Given the description of an element on the screen output the (x, y) to click on. 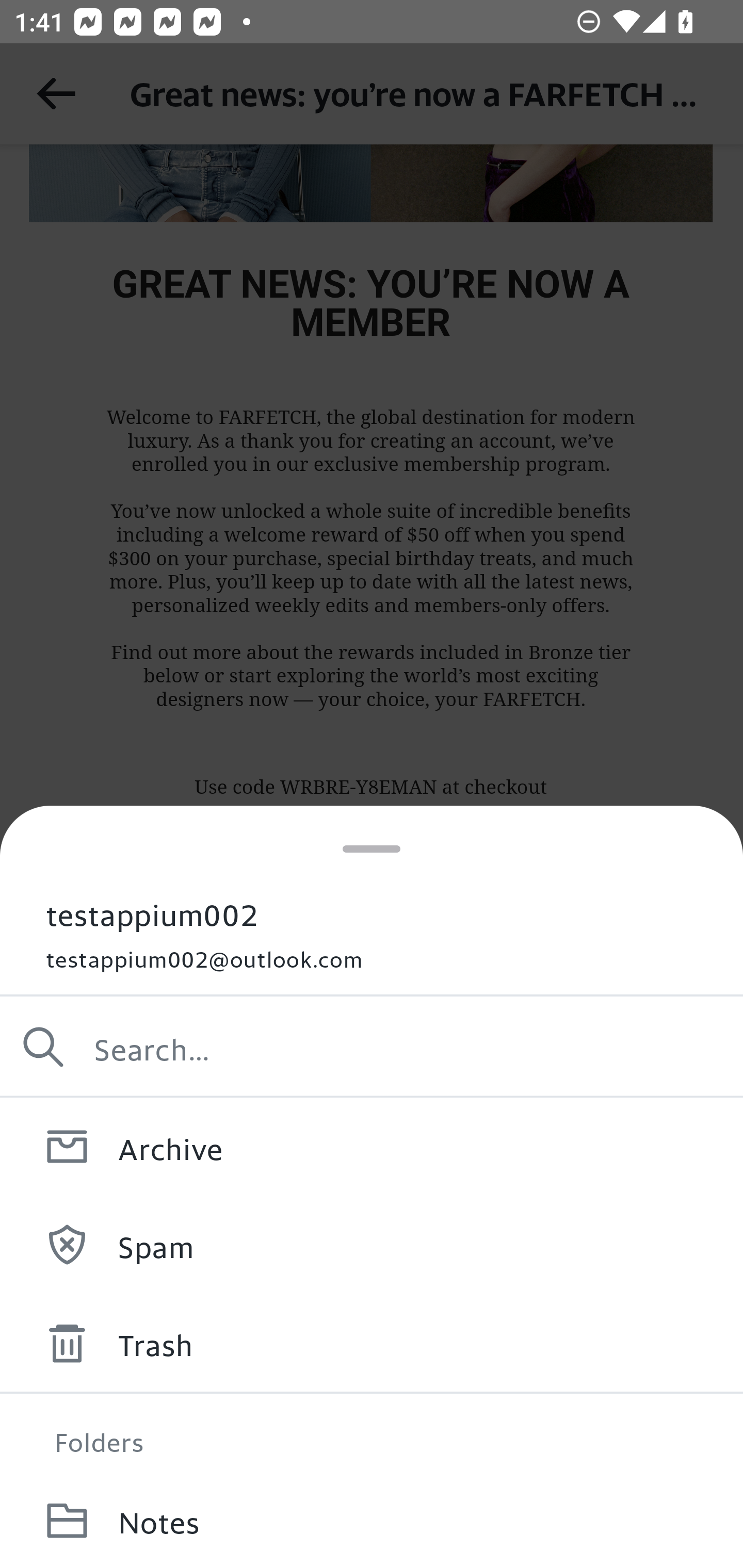
Search… (371, 1047)
Archive (371, 1145)
Spam (371, 1243)
Trash (371, 1342)
Notes (371, 1520)
